Given the description of an element on the screen output the (x, y) to click on. 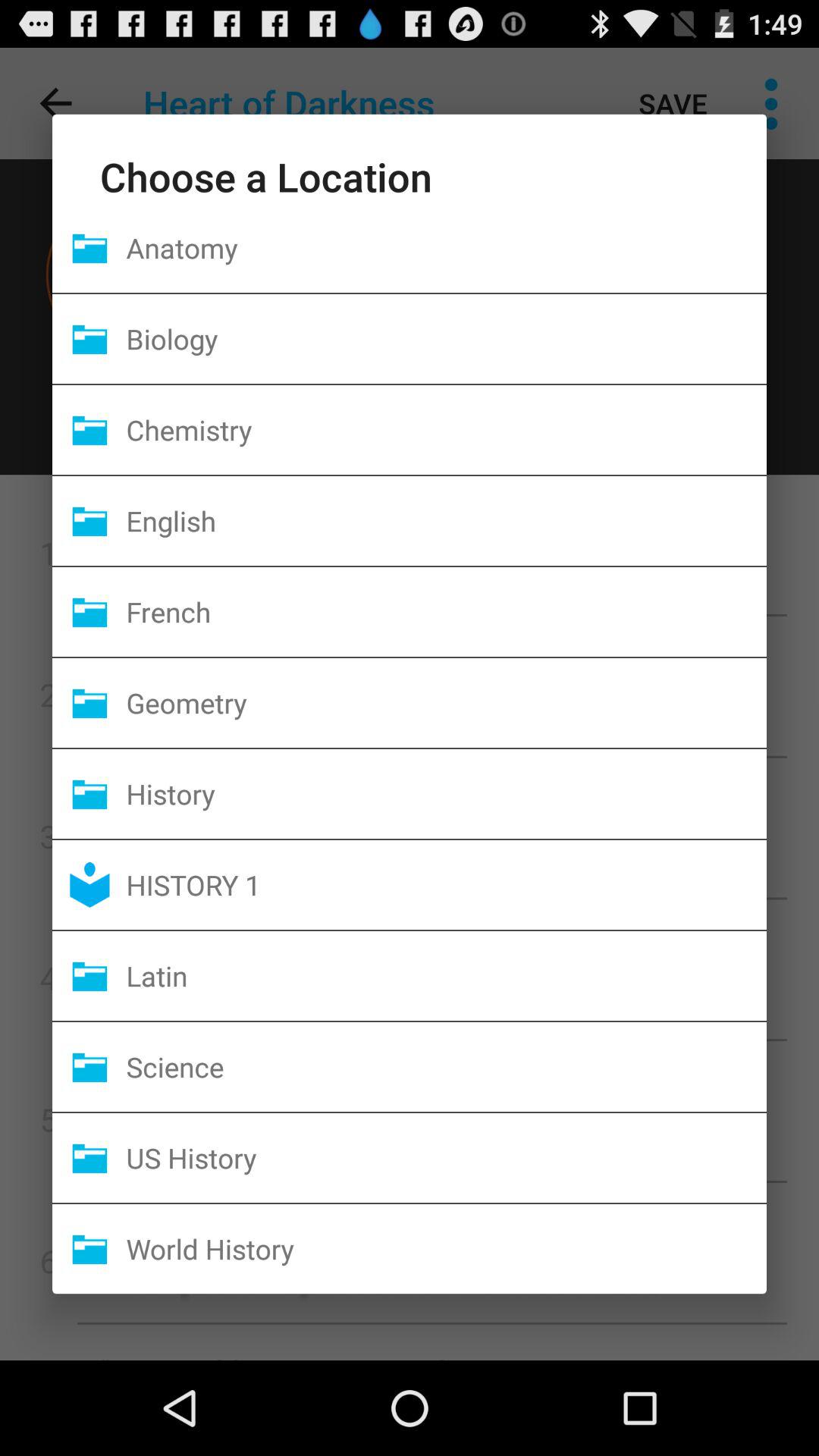
flip to french item (446, 611)
